Given the description of an element on the screen output the (x, y) to click on. 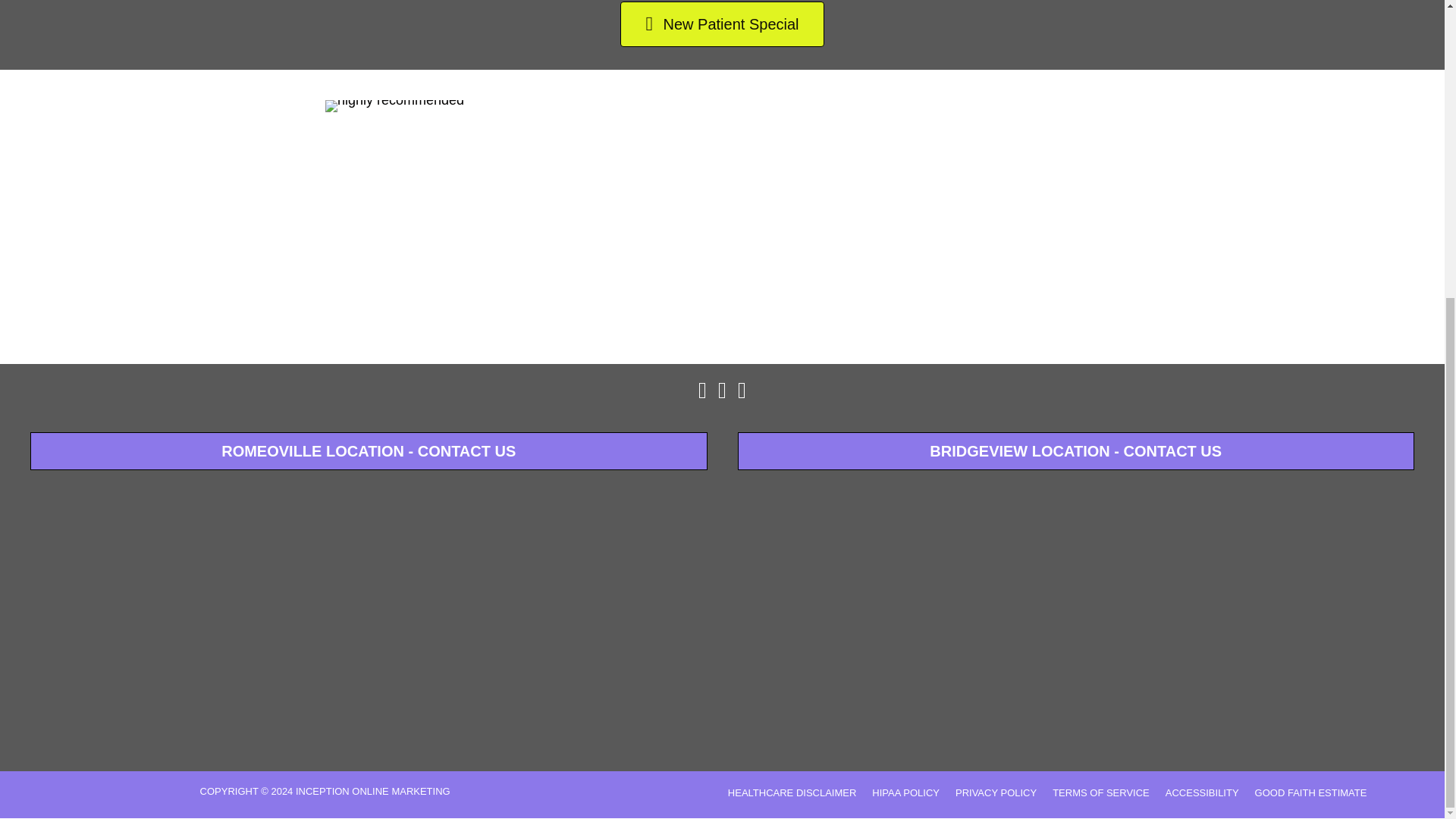
site-highly-rec (394, 105)
